Given the description of an element on the screen output the (x, y) to click on. 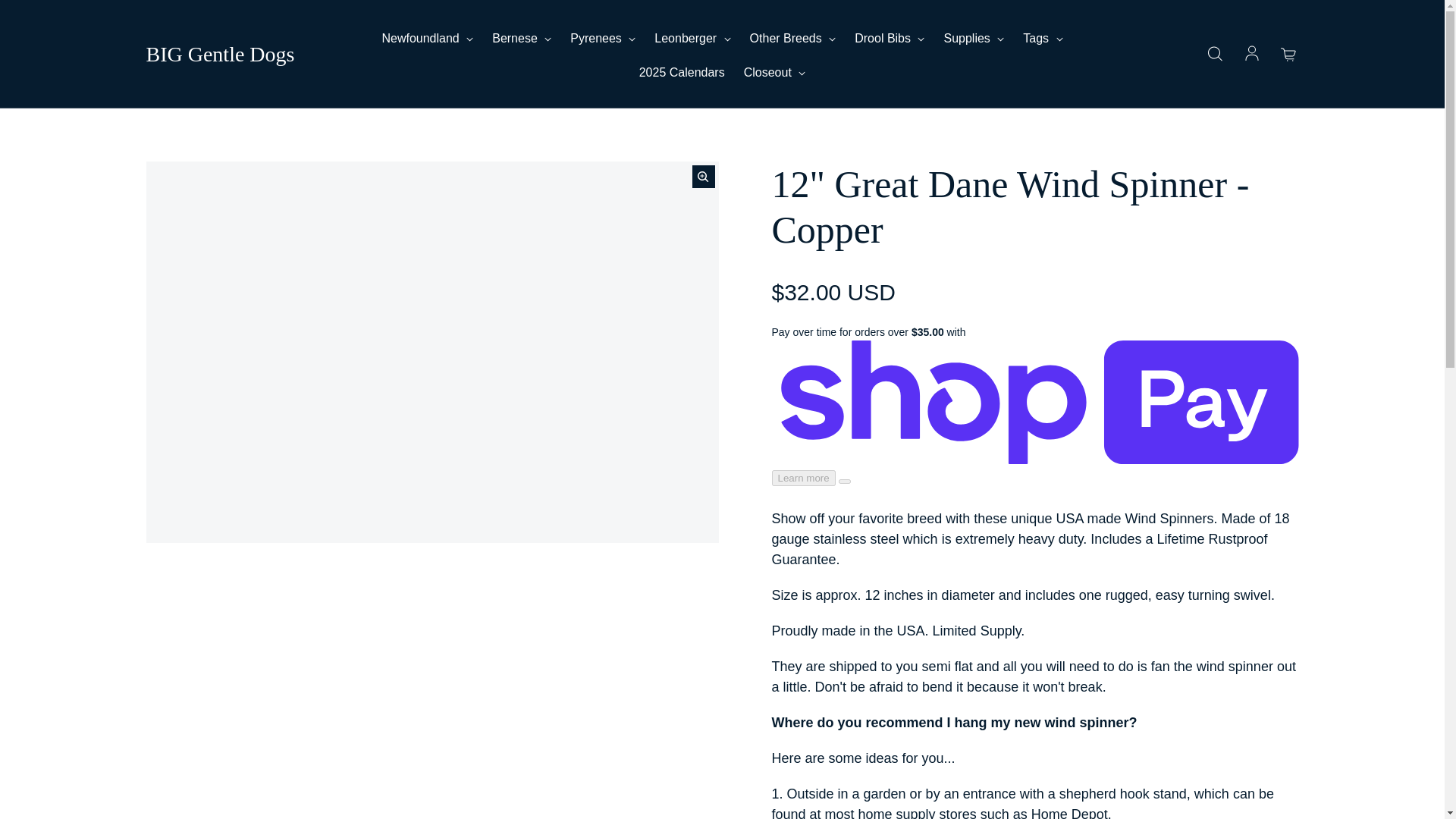
Leonberger (691, 38)
Other Breeds (792, 38)
Pyrenees (602, 38)
Log in (1251, 54)
Closeout (775, 72)
2025 Calendars (682, 72)
Newfoundland (427, 38)
BIG Gentle Dogs (219, 54)
Tags (1042, 38)
Drool Bibs (889, 38)
Supplies (973, 38)
Bernese (521, 38)
